Given the description of an element on the screen output the (x, y) to click on. 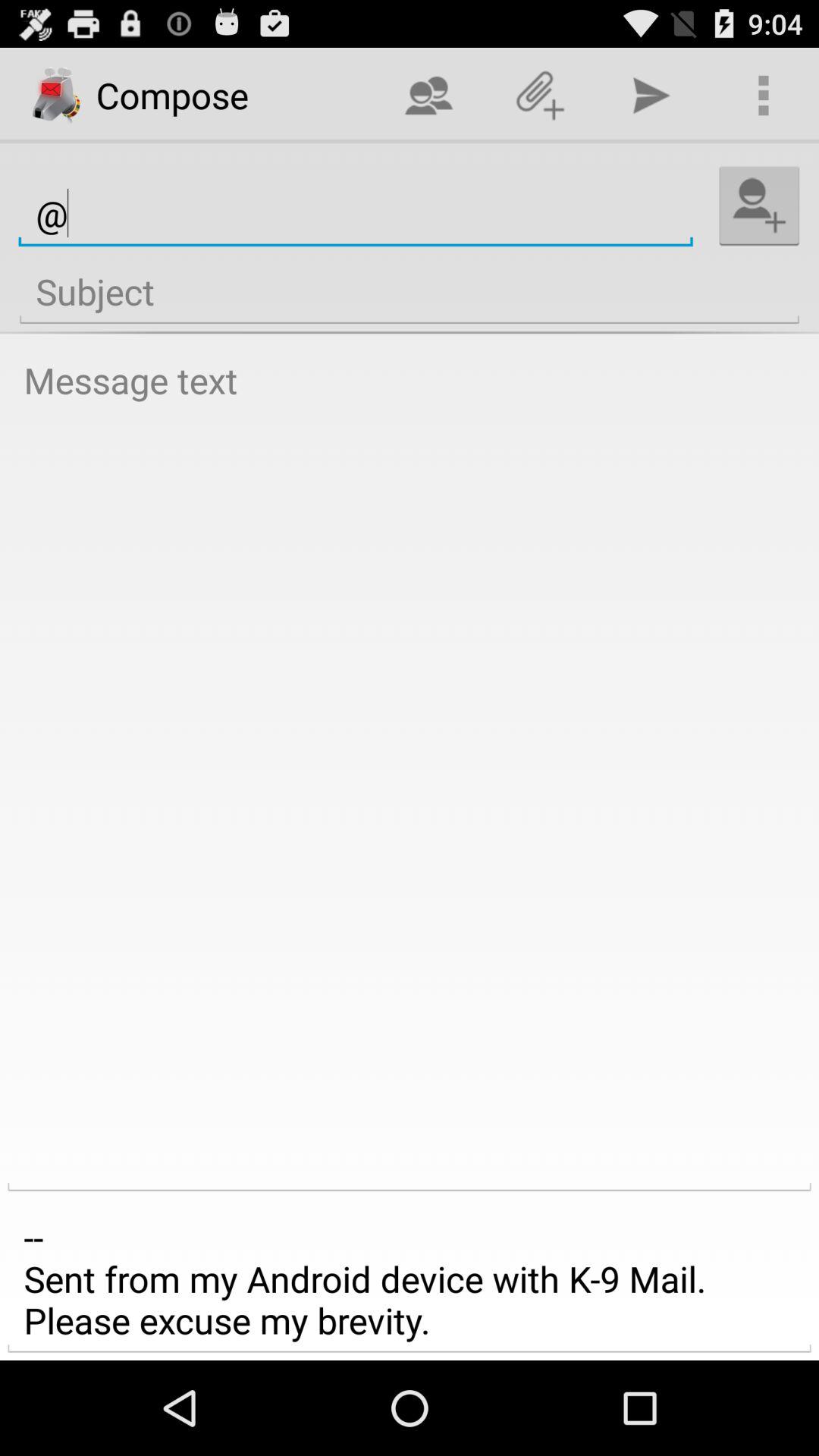
turn off item at the bottom (409, 1279)
